Given the description of an element on the screen output the (x, y) to click on. 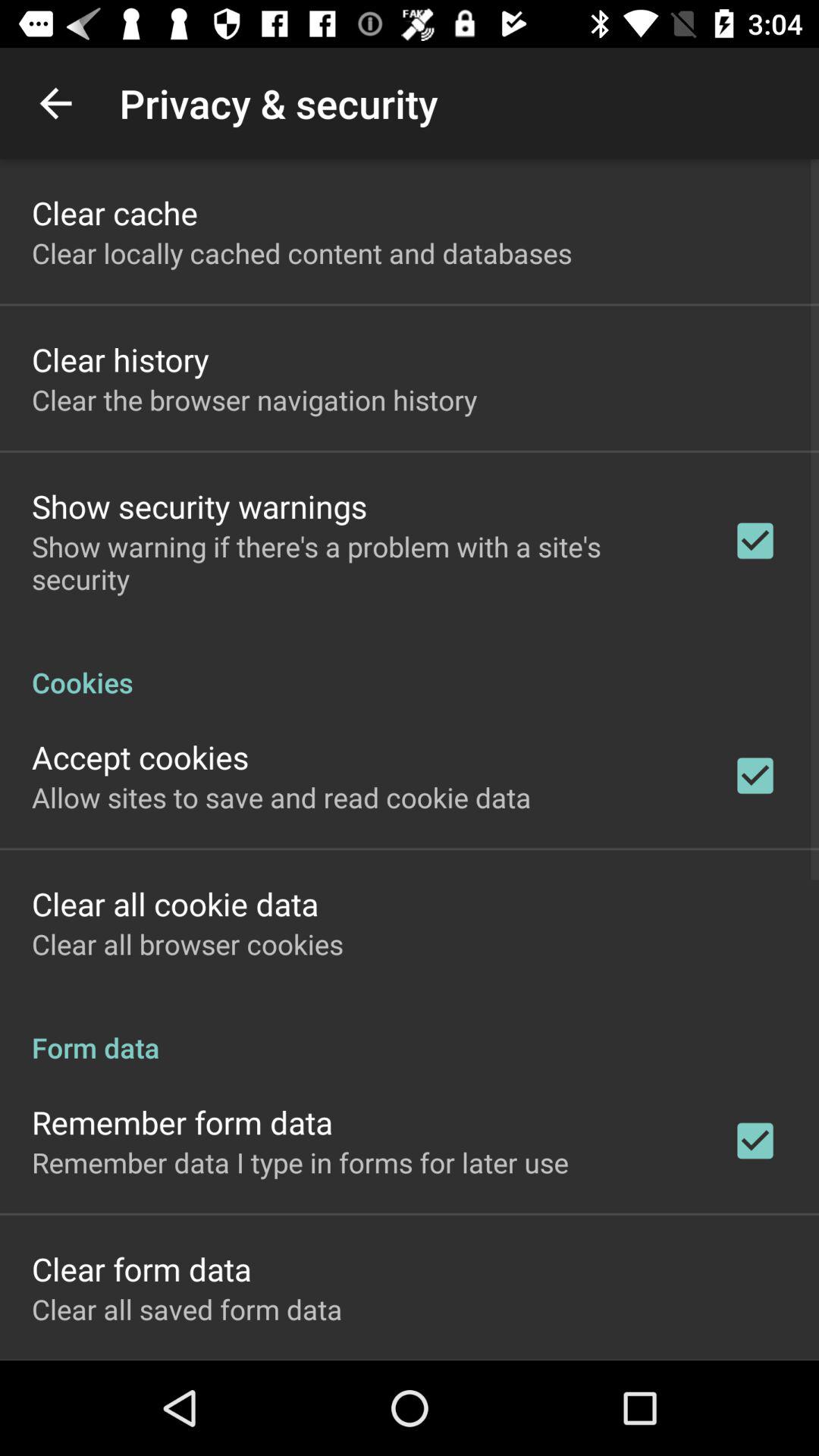
tap app to the left of privacy & security item (55, 103)
